Given the description of an element on the screen output the (x, y) to click on. 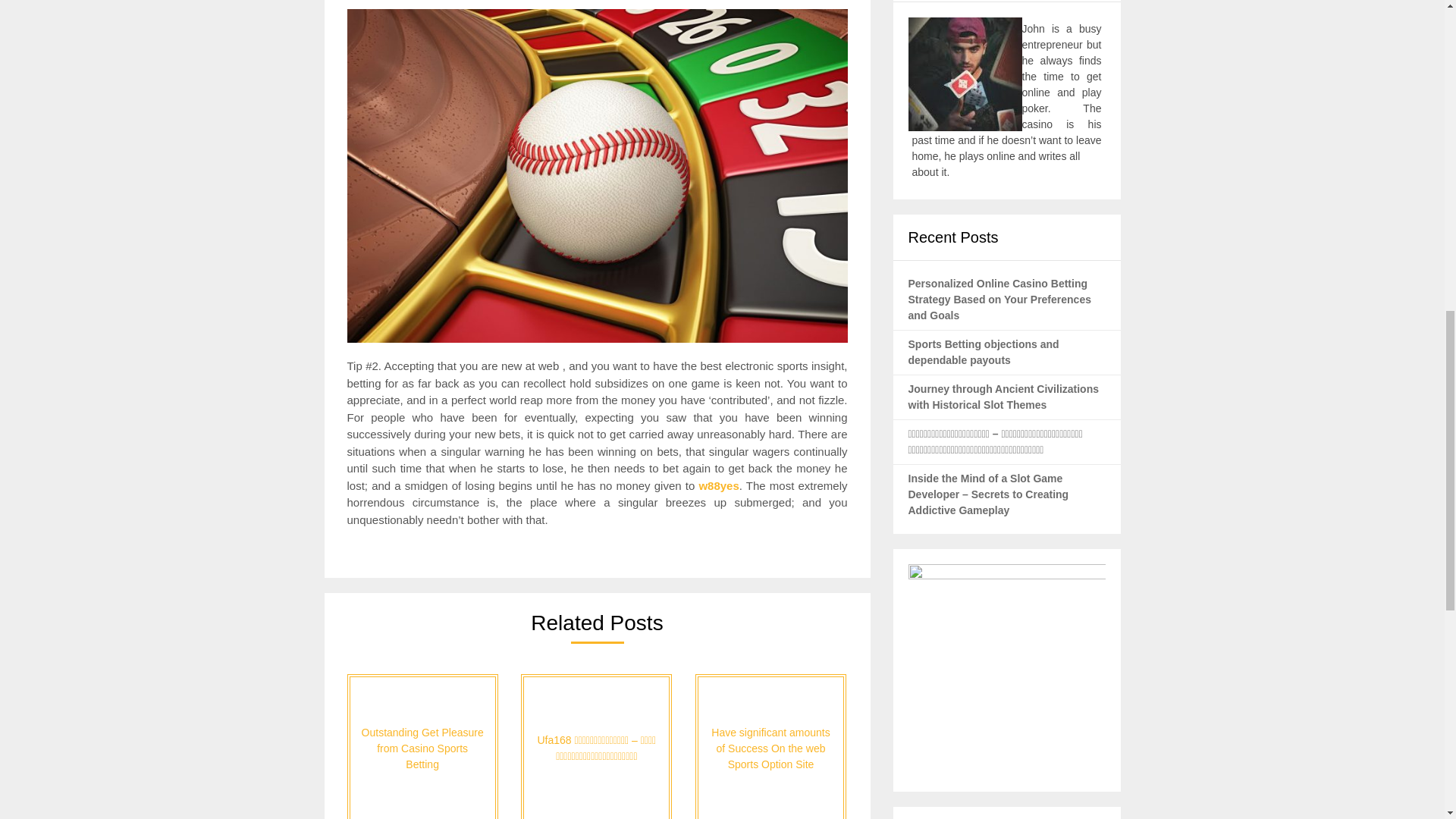
Outstanding Get Pleasure from Casino Sports Betting (422, 746)
Sports Betting objections and dependable payouts (983, 352)
Outstanding Get Pleasure from Casino Sports Betting (422, 746)
w88yes (718, 485)
